Given the description of an element on the screen output the (x, y) to click on. 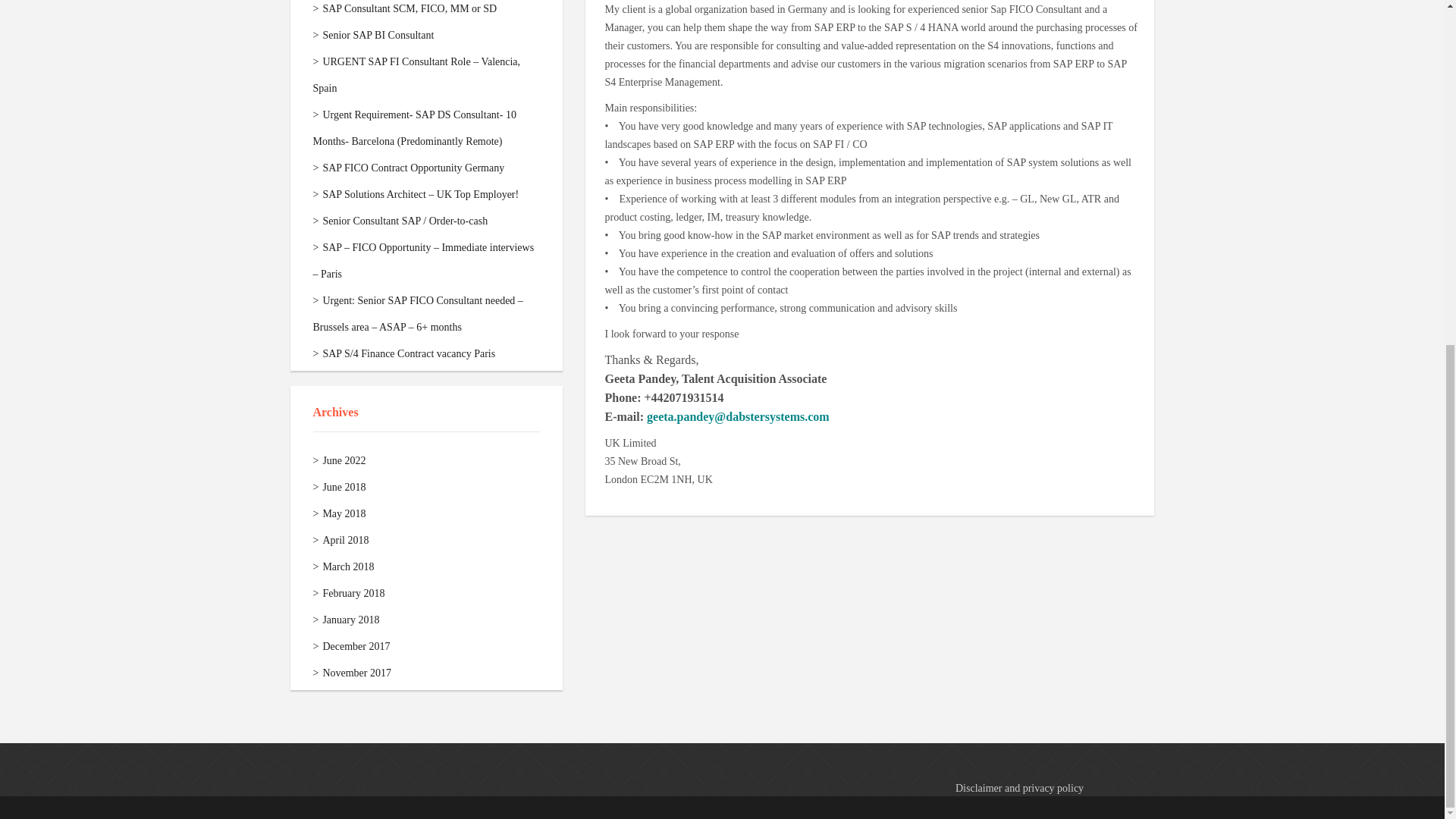
SAP Consultant SCM, FICO, MM or SD (404, 8)
June 2022 (339, 460)
February 2018 (348, 593)
December 2017 (351, 645)
June 2018 (339, 487)
May 2018 (339, 513)
April 2018 (340, 540)
Senior SAP BI Consultant (373, 34)
January 2018 (345, 619)
SAP FICO Contract Opportunity Germany (408, 167)
